Given the description of an element on the screen output the (x, y) to click on. 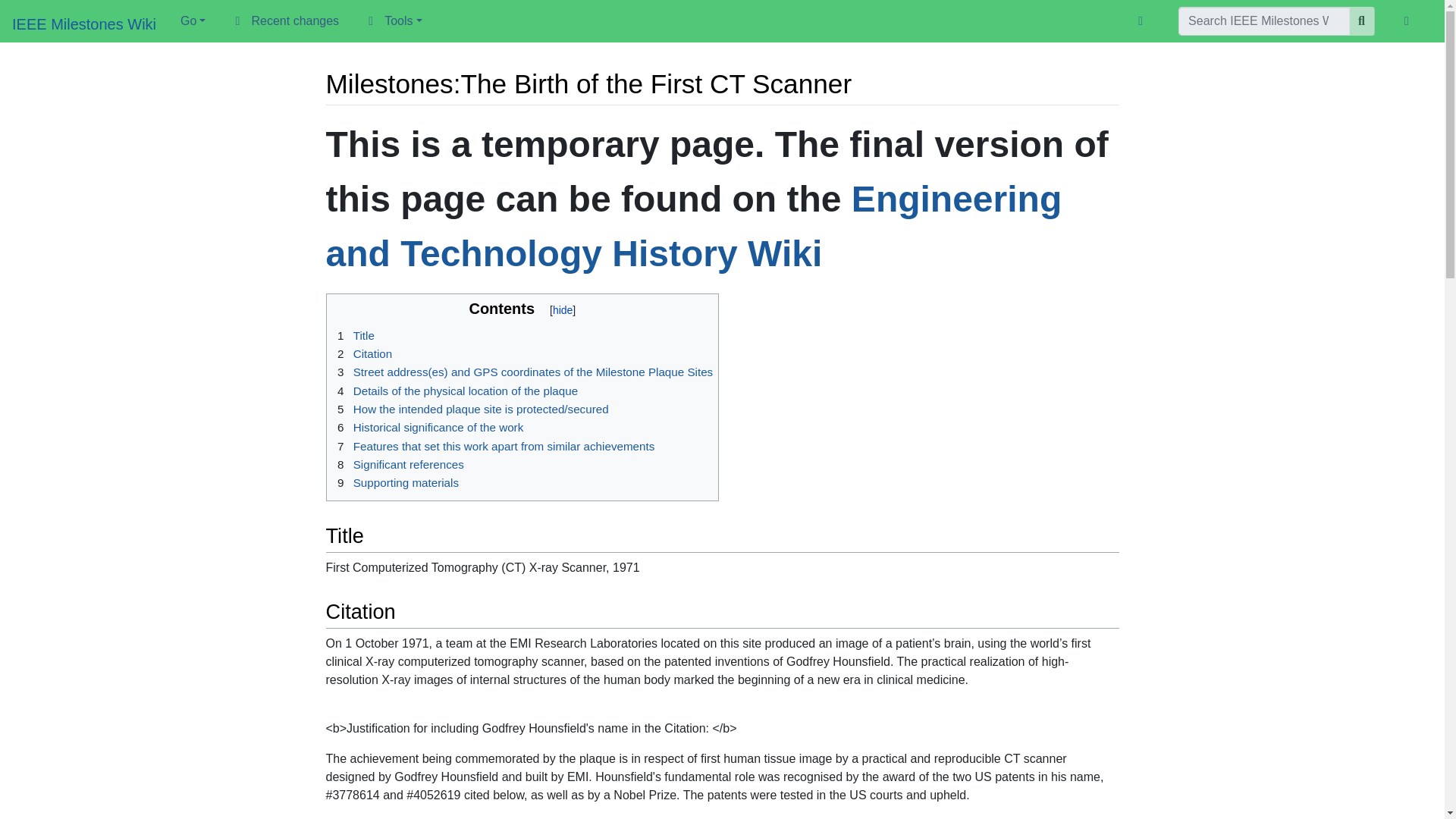
6 Historical significance of the work (427, 427)
Engineering and Technology History Wiki (694, 226)
Recent changes (283, 20)
Go to a page with this exact name if it exists (1361, 21)
4 Details of the physical location of the plaque (454, 390)
Visit the main page (83, 23)
Tools (391, 20)
IEEE Milestones Wiki (83, 23)
Go (1361, 21)
2 Citation (362, 353)
1 Title (352, 335)
Go (192, 20)
8 Significant references (397, 463)
